Given the description of an element on the screen output the (x, y) to click on. 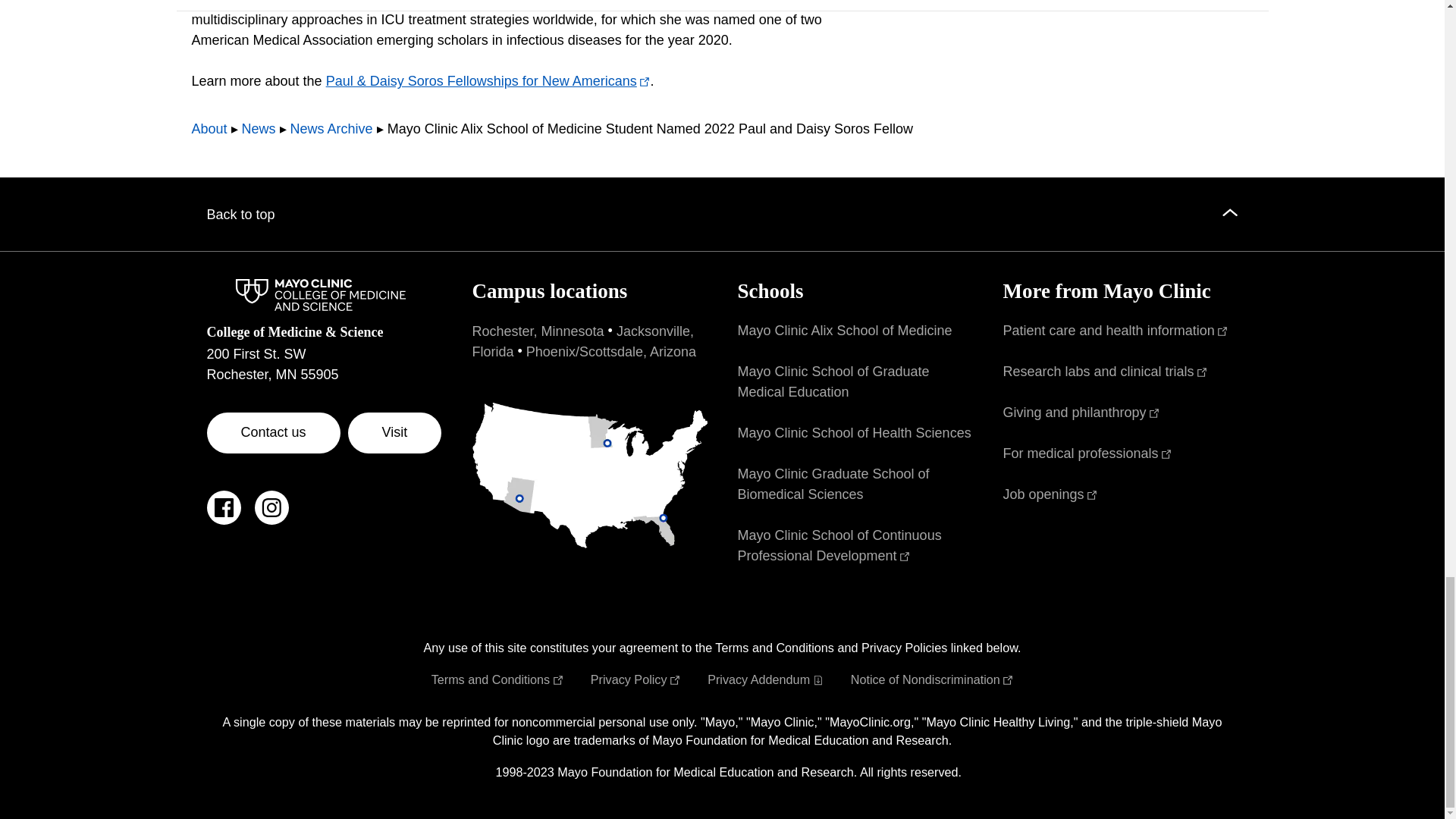
Back to top of page (722, 213)
College of Medicine and Science Facebook (223, 515)
College of Medicine and Science Instagram (271, 515)
